Given the description of an element on the screen output the (x, y) to click on. 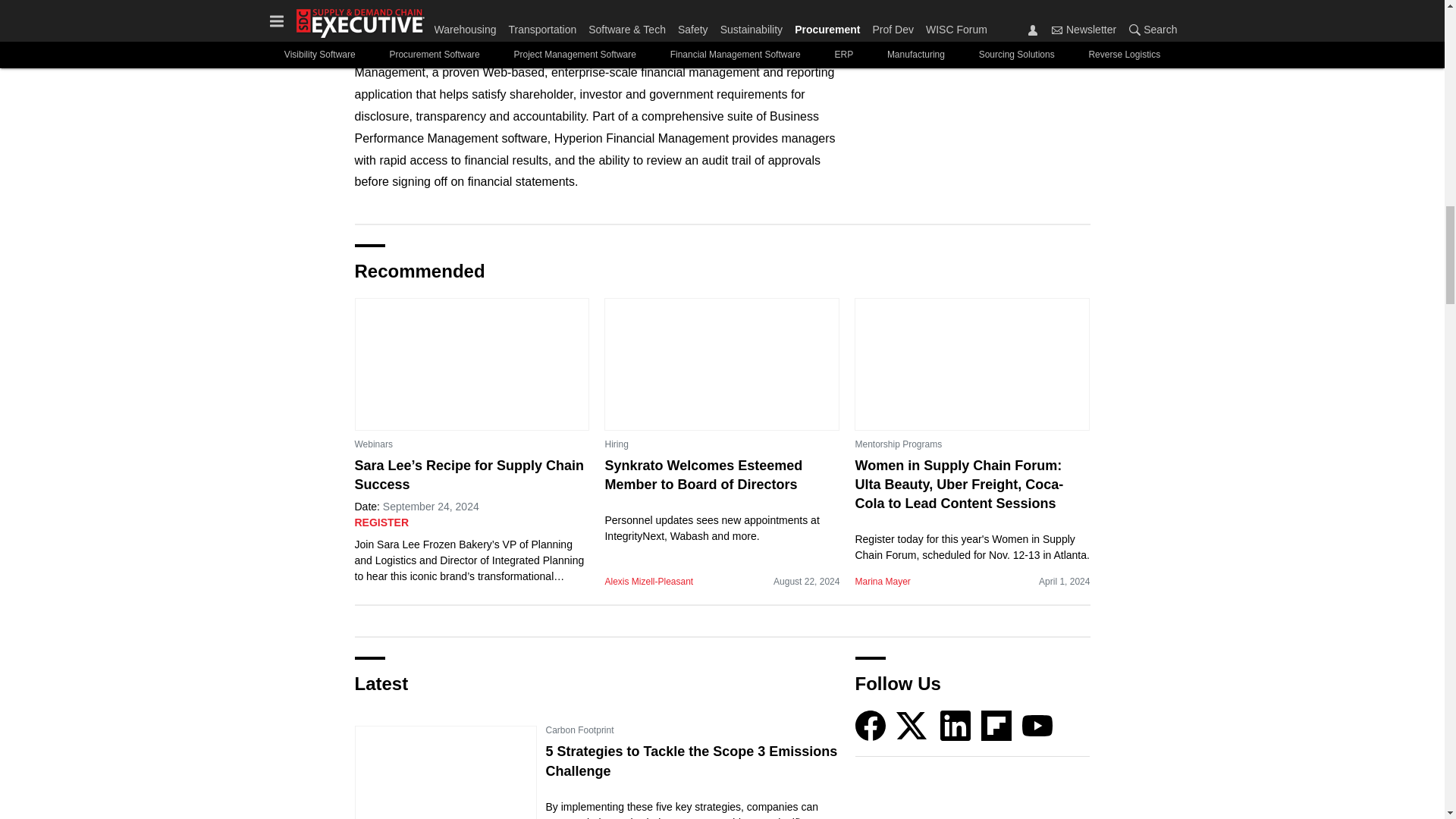
LinkedIn icon (955, 725)
Facebook icon (870, 725)
Webinars (374, 444)
Twitter X icon (911, 725)
Flipboard icon (996, 725)
YouTube icon (1037, 725)
